Given the description of an element on the screen output the (x, y) to click on. 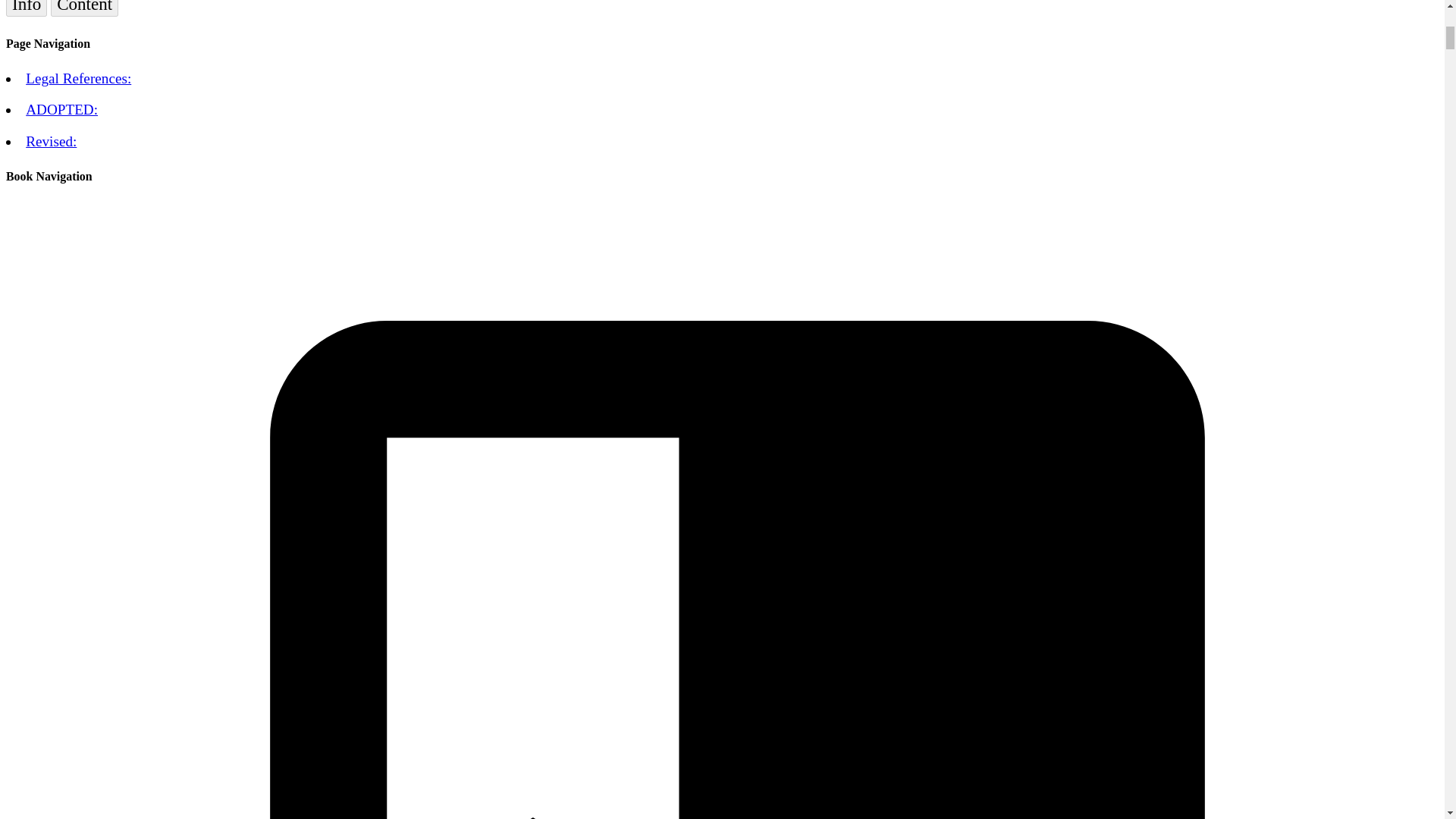
ADOPTED: (61, 109)
Legal References: (78, 78)
Revised: (51, 141)
Content (83, 8)
Info (25, 8)
